Given the description of an element on the screen output the (x, y) to click on. 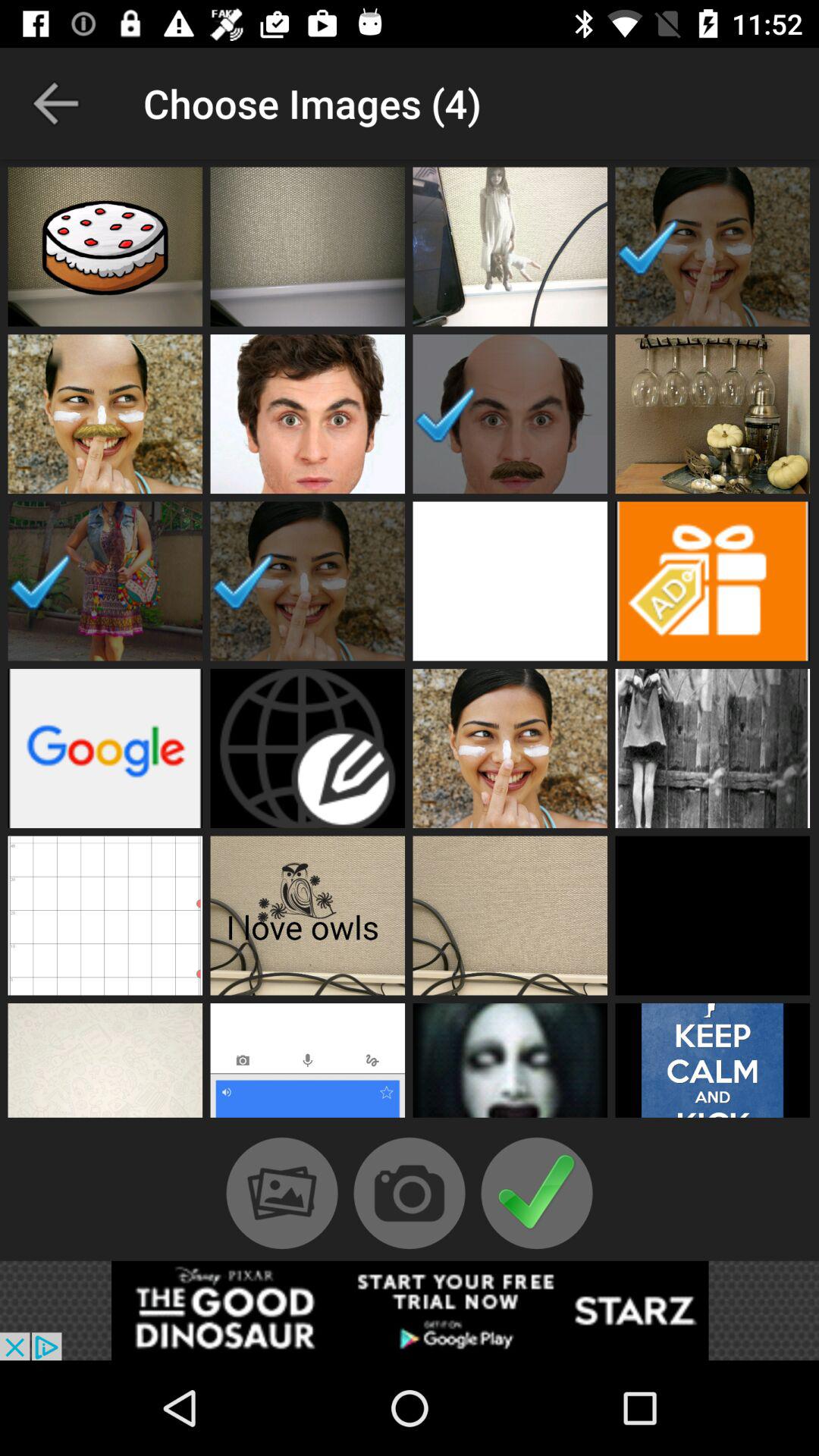
click on picture (307, 1064)
